Given the description of an element on the screen output the (x, y) to click on. 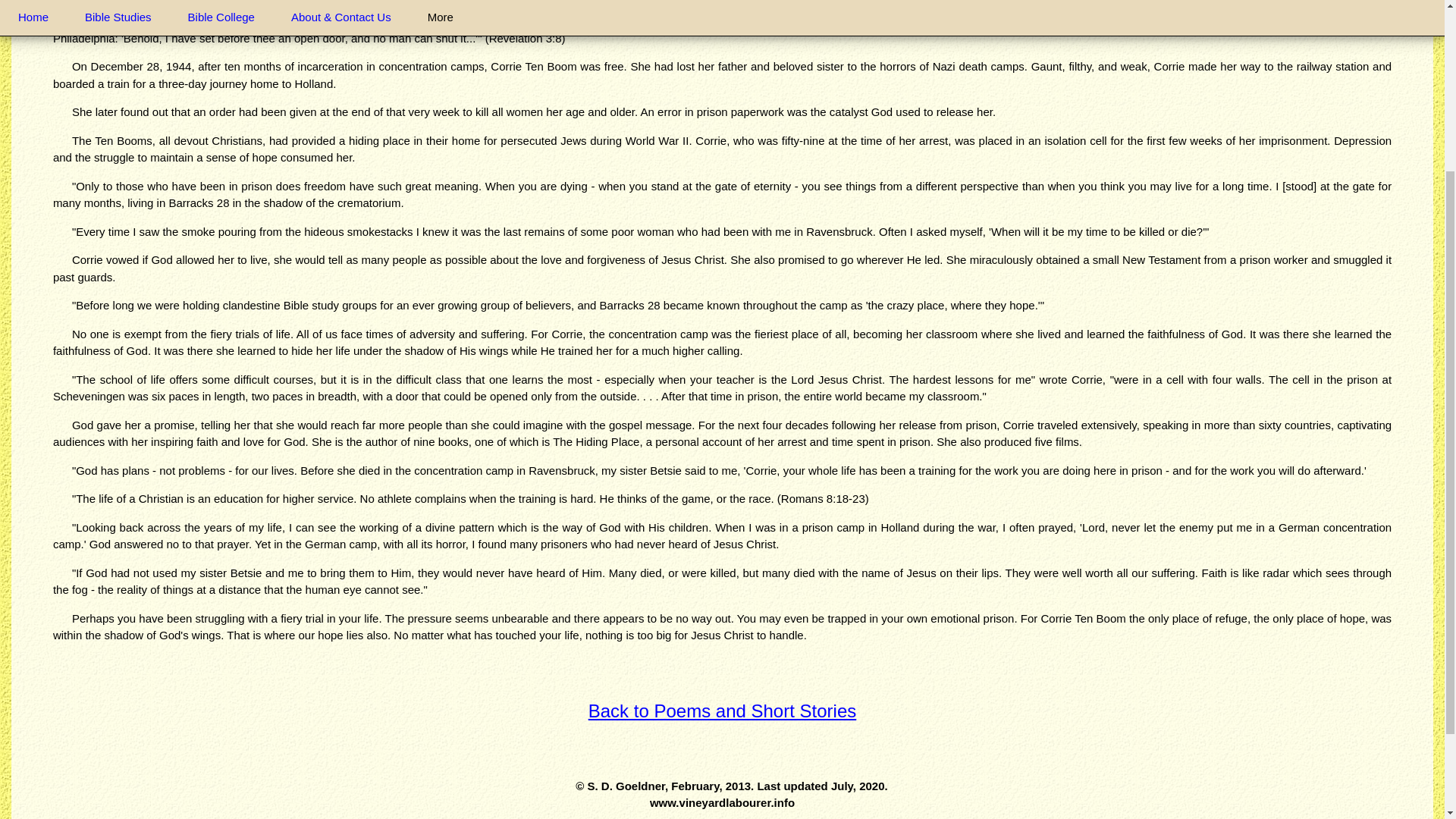
Back to Poems and Short Stories (722, 710)
